Given the description of an element on the screen output the (x, y) to click on. 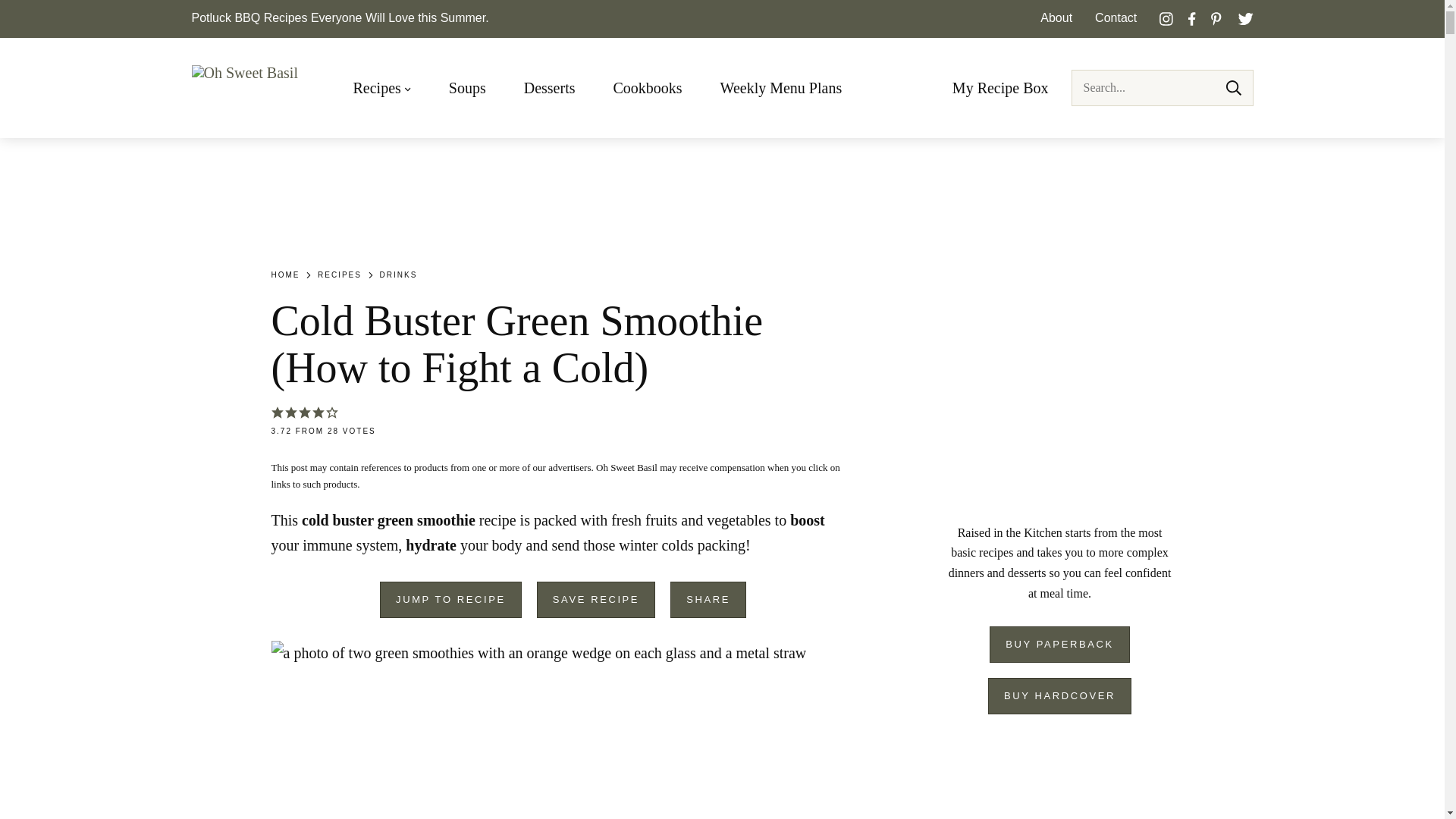
Twitter (1245, 18)
About (1056, 17)
Instagram (1165, 18)
Instagram (1165, 18)
Pinterest (1216, 18)
Pinterest (1216, 18)
Recipes (381, 87)
Facebook (1192, 18)
Search (1232, 87)
Twitter (1245, 18)
